Given the description of an element on the screen output the (x, y) to click on. 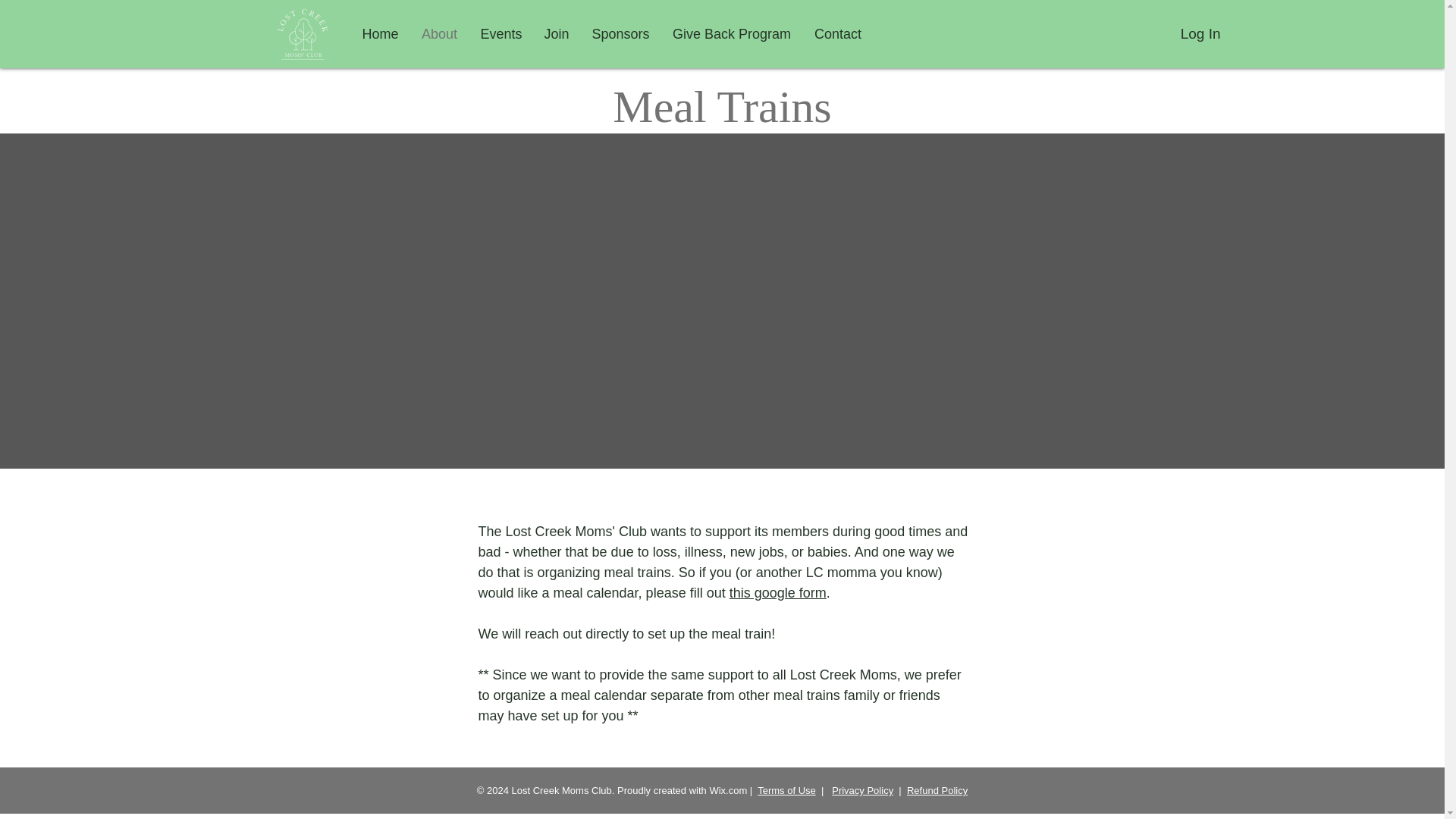
Home (379, 34)
Wix.com (727, 790)
Give Back Program (732, 34)
Contact (837, 34)
Privacy Policy (862, 790)
Sponsors (620, 34)
Terms of Use (786, 790)
Events (500, 34)
Log In (1200, 34)
About (438, 34)
